Given the description of an element on the screen output the (x, y) to click on. 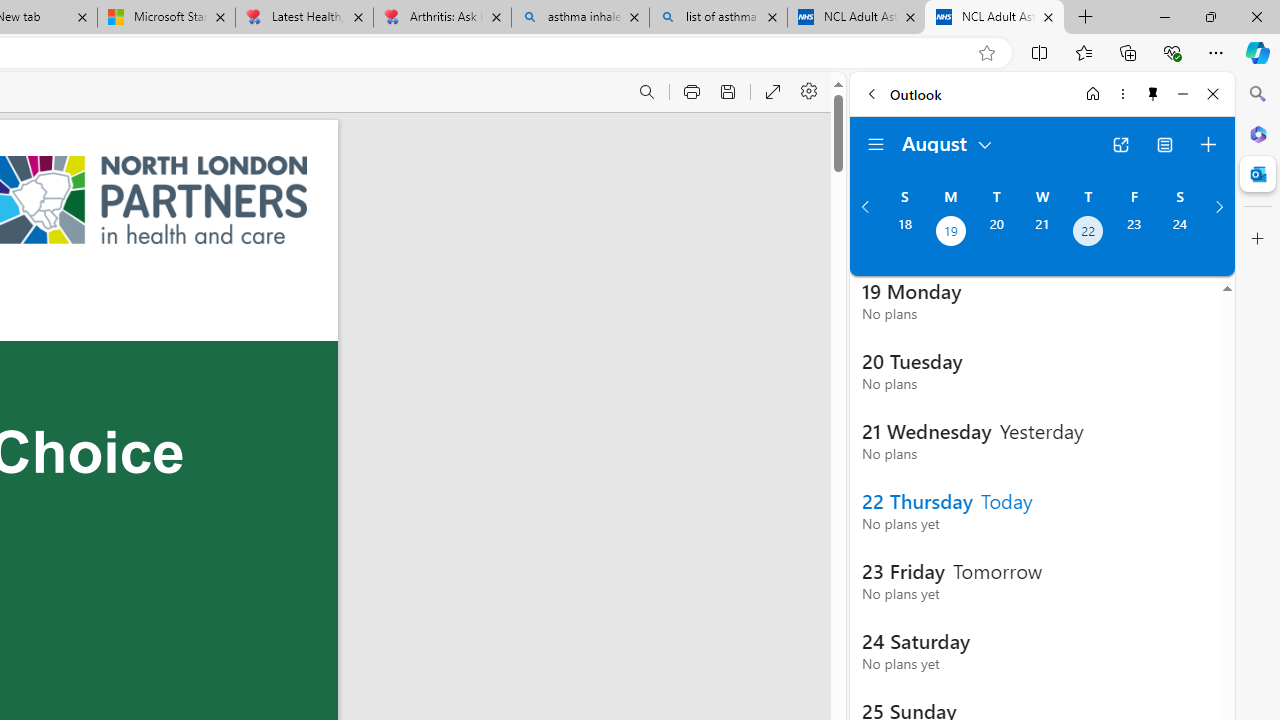
Monday, August 19, 2024. Date selected.  (950, 233)
Save (Ctrl+S) (728, 92)
Folder navigation (876, 144)
